Given the description of an element on the screen output the (x, y) to click on. 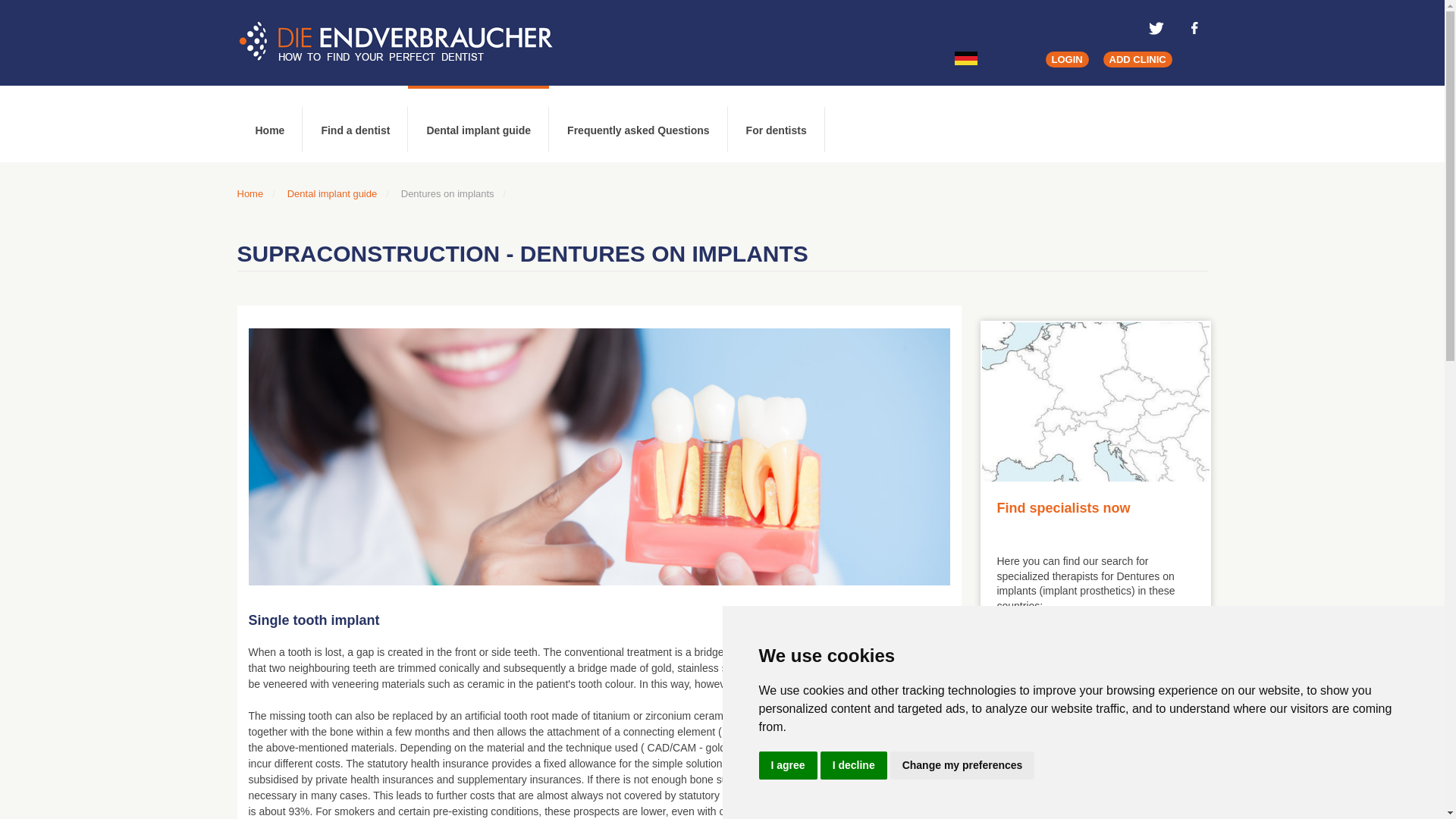
Find a dentist (354, 123)
I decline (853, 765)
ADD CLINIC (1137, 59)
Dental implant guide (477, 123)
Change my preferences (962, 765)
For dentists (776, 123)
For dentists (776, 123)
Frequently asked Questions (638, 123)
Find a dentist (354, 123)
LOGIN (1066, 59)
